Given the description of an element on the screen output the (x, y) to click on. 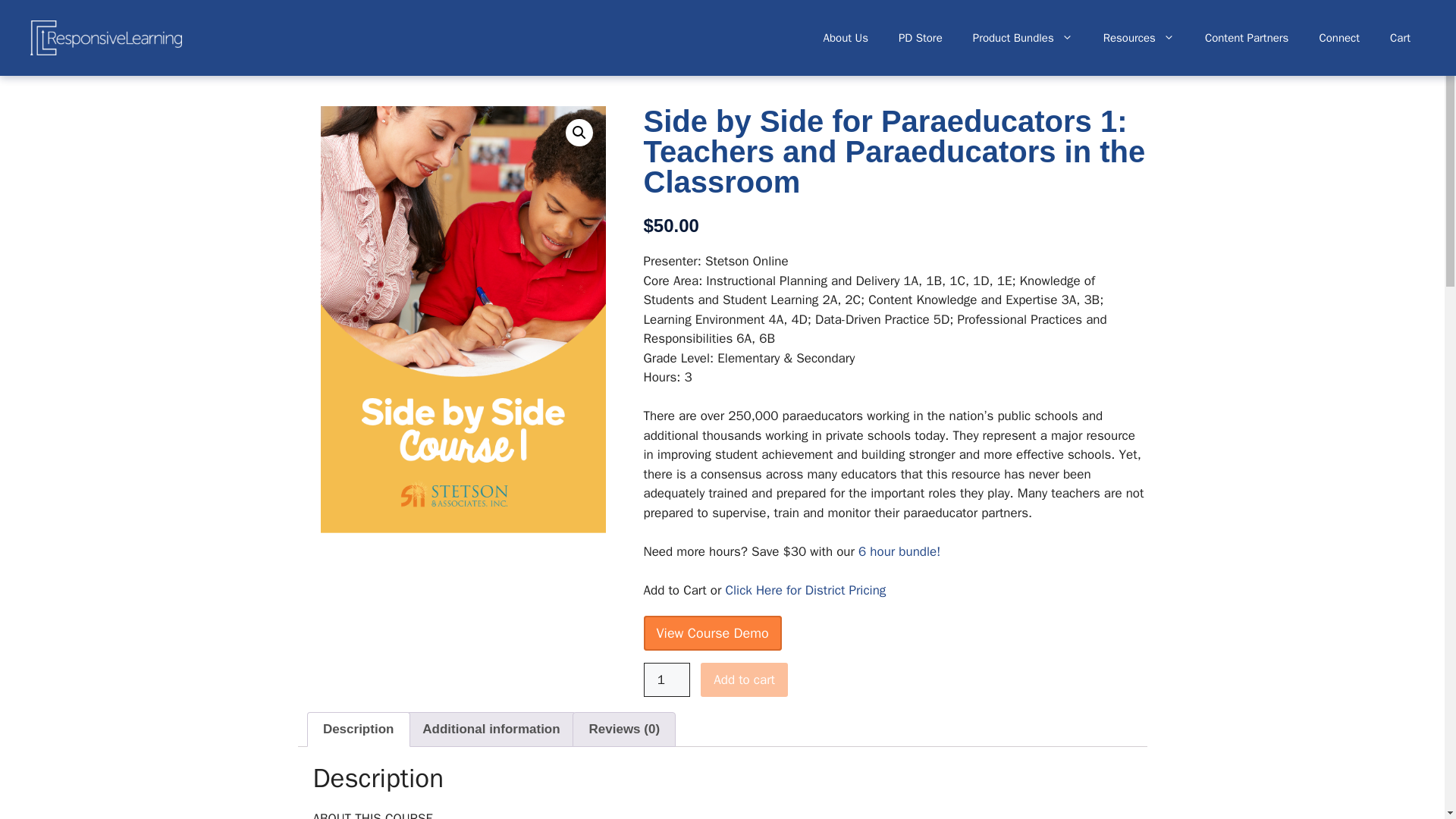
PD Store (920, 37)
Connect (1338, 37)
Cart (1399, 37)
About Us (845, 37)
Product Bundles (1022, 37)
View Course Demo (711, 632)
Content Partners (1246, 37)
Additional information (491, 729)
1 (666, 679)
Click Here for District Pricing (805, 590)
6 hour bundle! (899, 550)
Resources (1138, 37)
Description (358, 729)
Add to cart (743, 679)
